Given the description of an element on the screen output the (x, y) to click on. 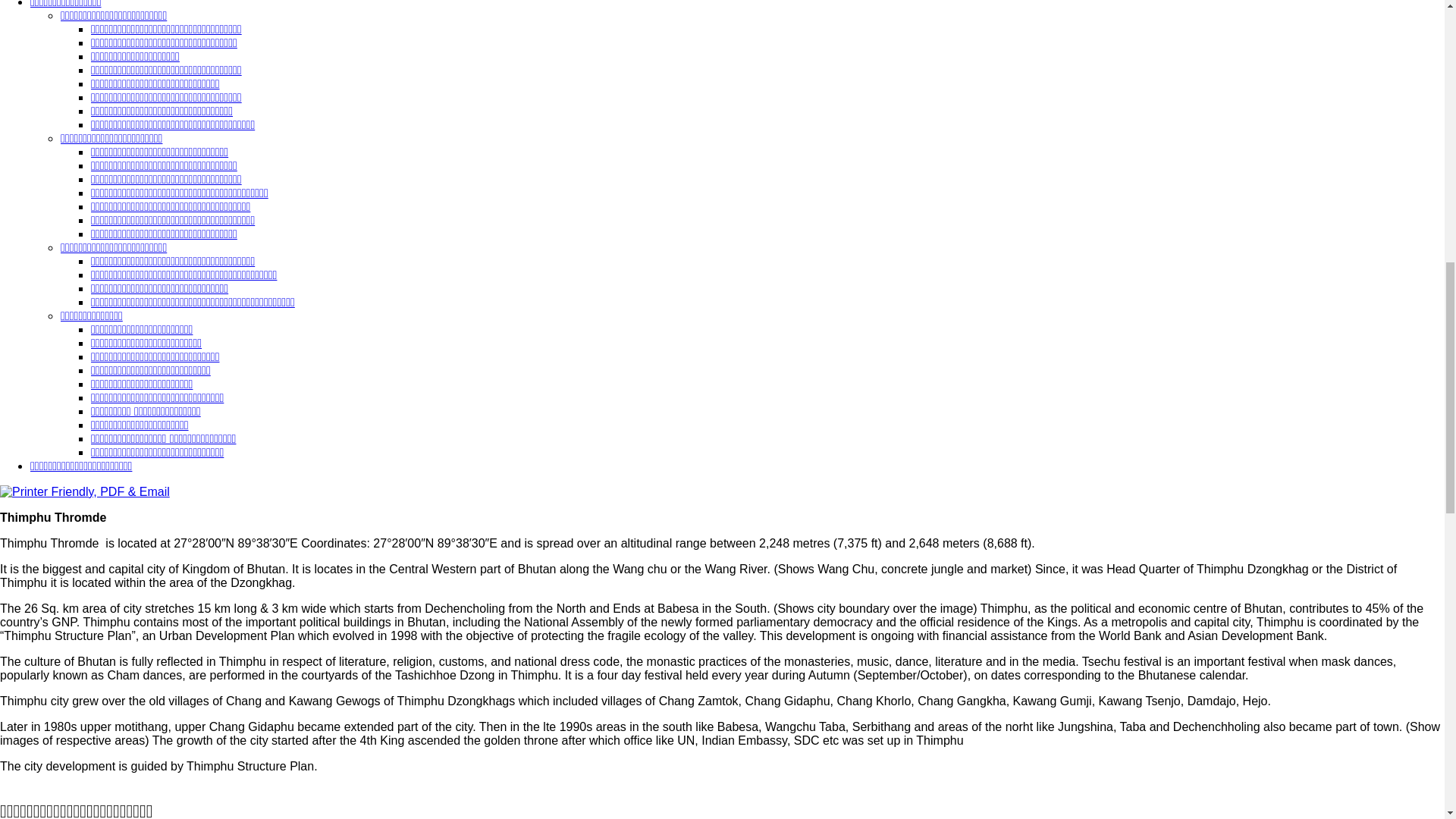
Privacy Policy (81, 465)
